Given the description of an element on the screen output the (x, y) to click on. 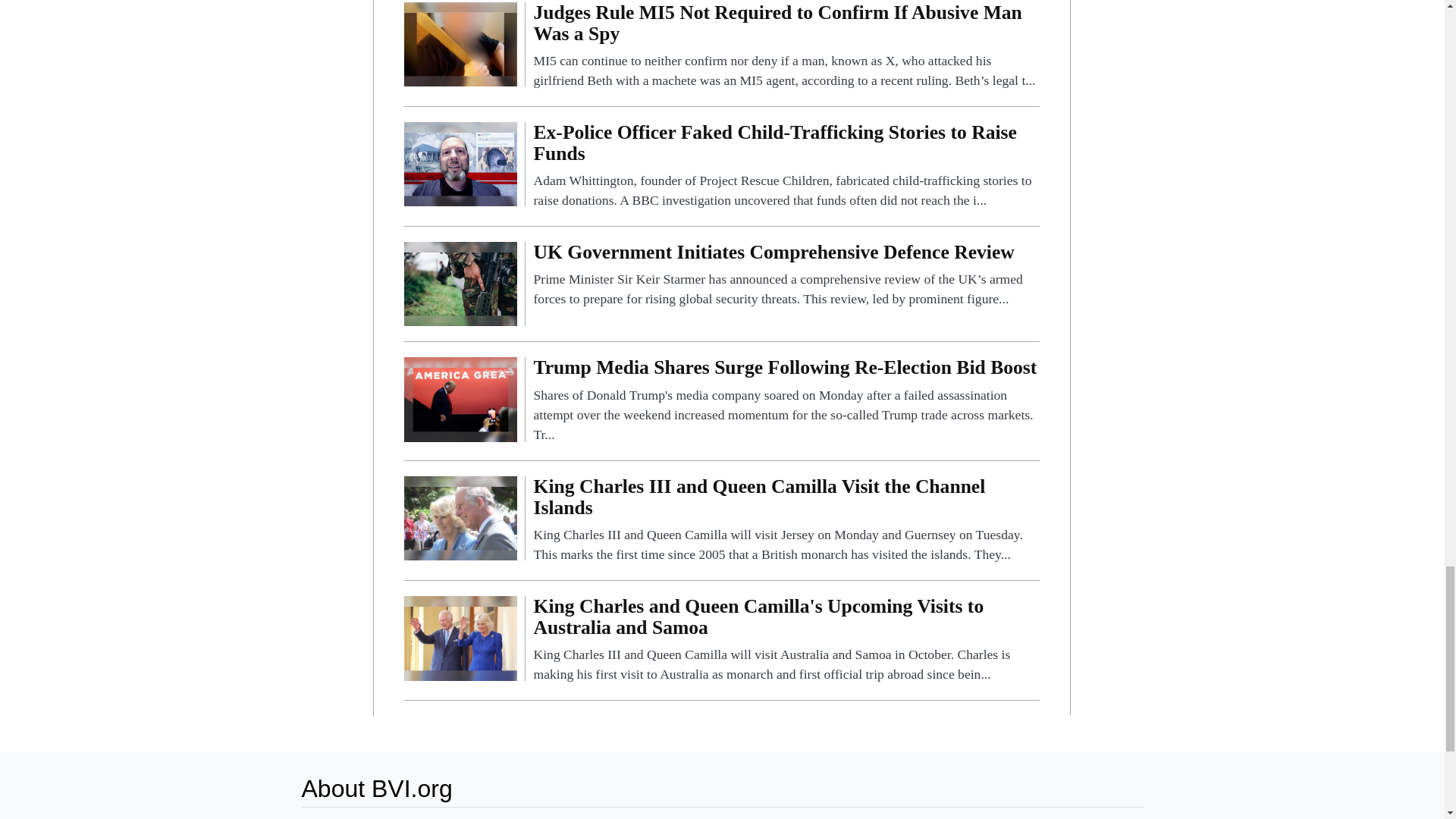
UK Government Initiates Comprehensive Defence Review (785, 275)
UK Government Initiates Comprehensive Defence Review (460, 282)
King Charles III and Queen Camilla Visit the Channel Islands (785, 520)
Trump Media Shares Surge Following Re-Election Bid Boost (785, 400)
King Charles III and Queen Camilla Visit the Channel Islands (460, 517)
Trump Media Shares Surge Following Re-Election Bid Boost (460, 399)
